Given the description of an element on the screen output the (x, y) to click on. 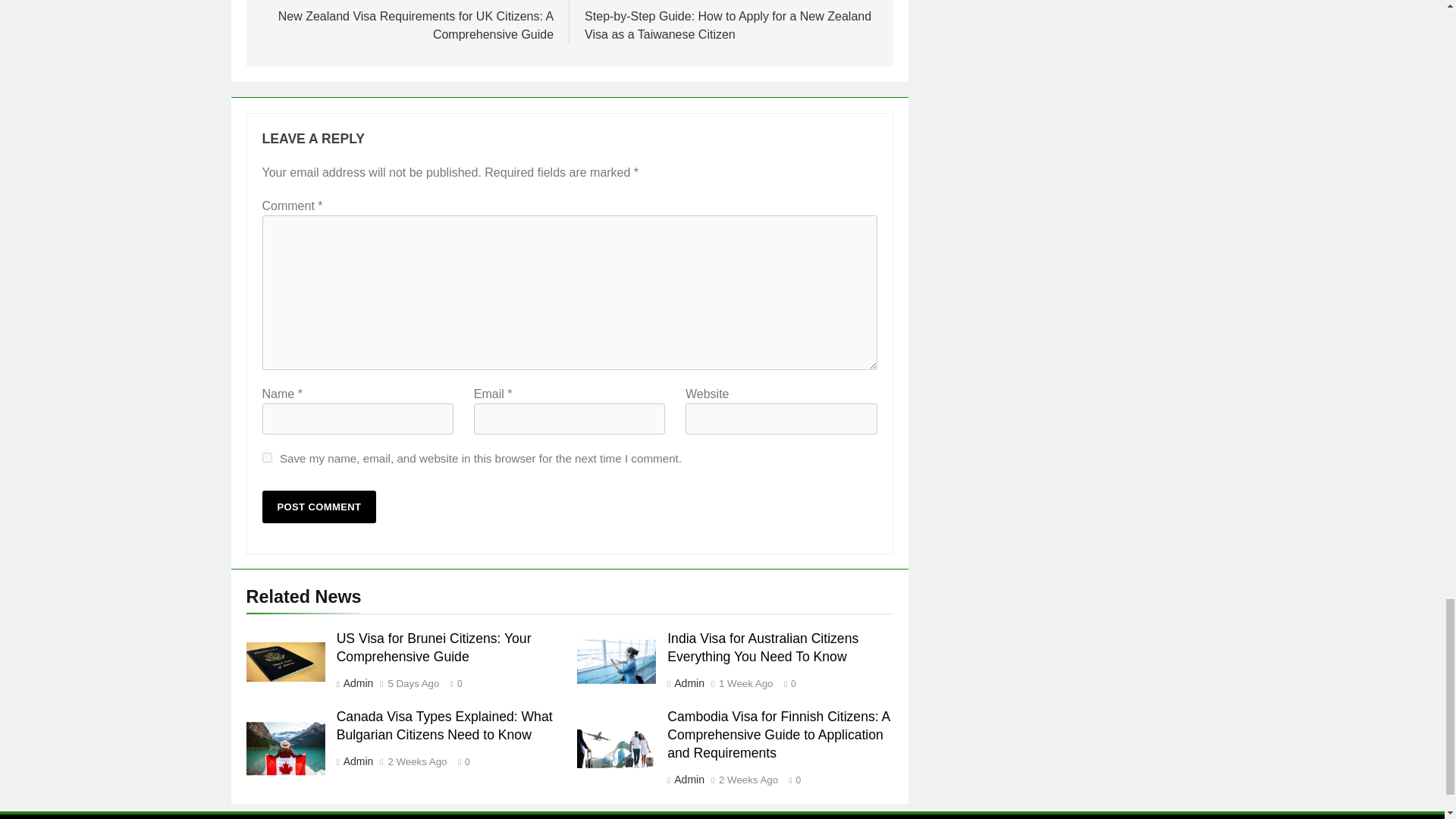
Post Comment (319, 506)
yes (267, 457)
